Given the description of an element on the screen output the (x, y) to click on. 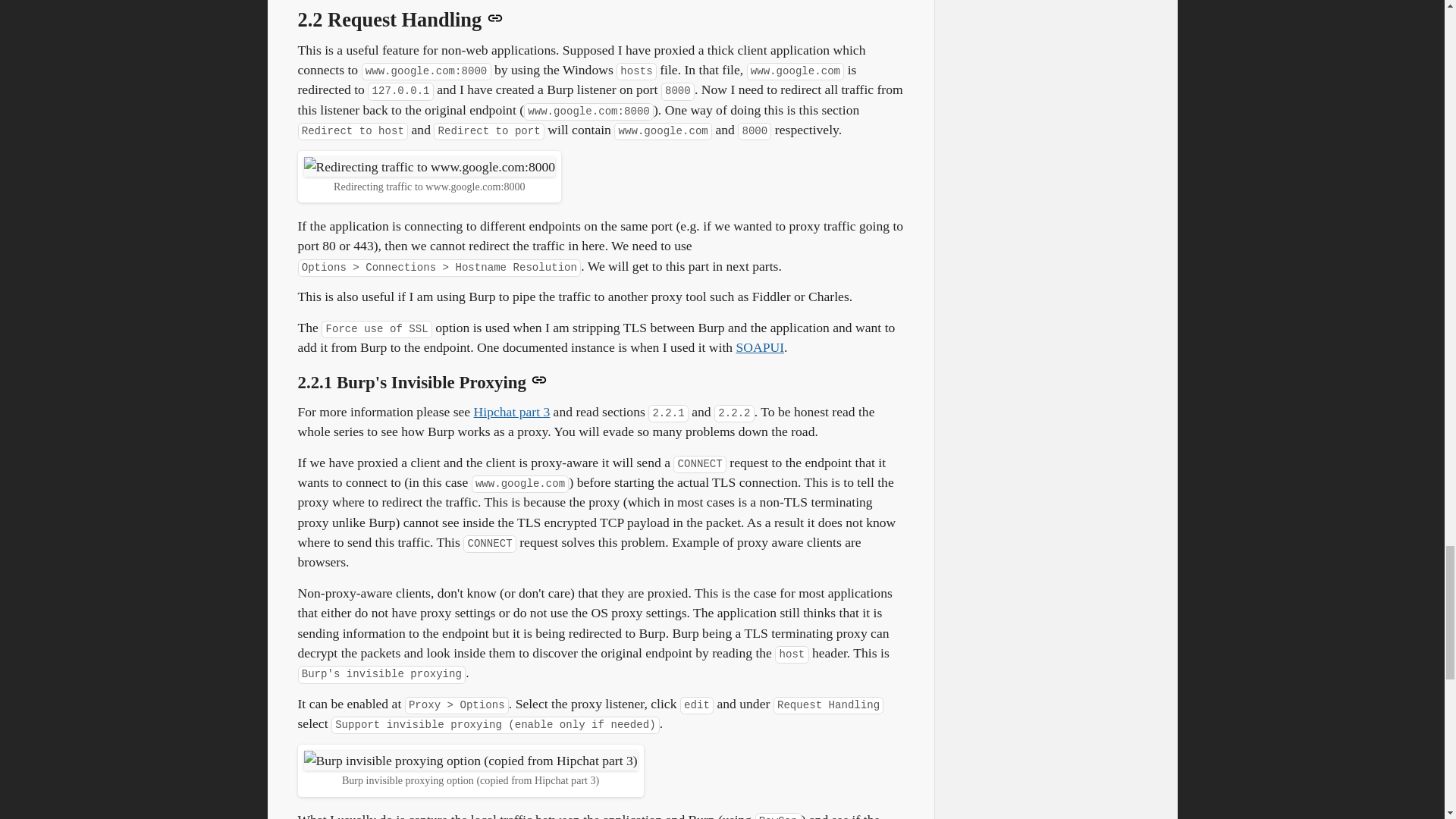
2.2.1 What is this CONNECT? (512, 411)
Redirecting traffic to www.google.com:8000 (428, 166)
SOAPUI (760, 346)
